Given the description of an element on the screen output the (x, y) to click on. 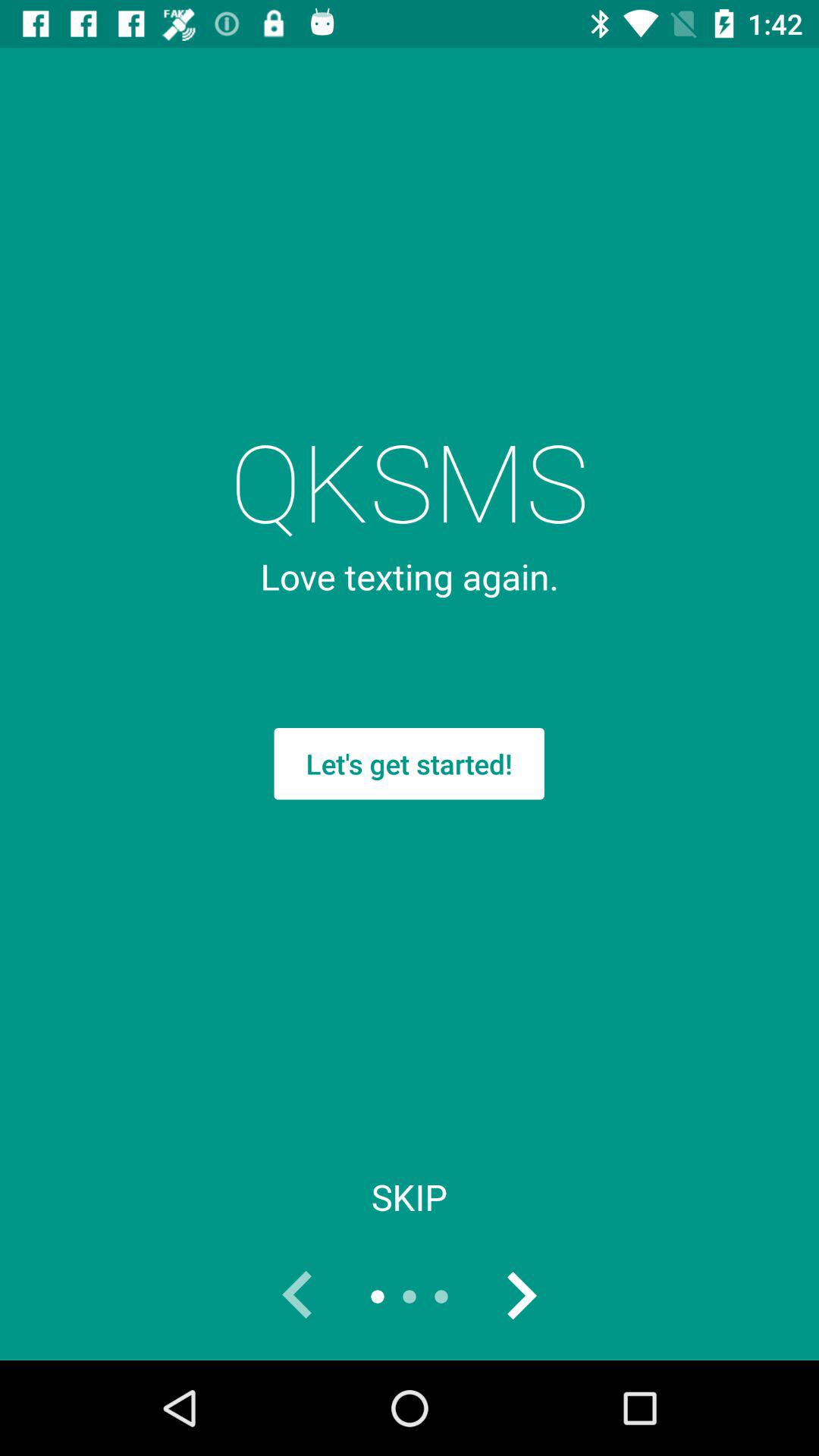
go back (297, 1296)
